Given the description of an element on the screen output the (x, y) to click on. 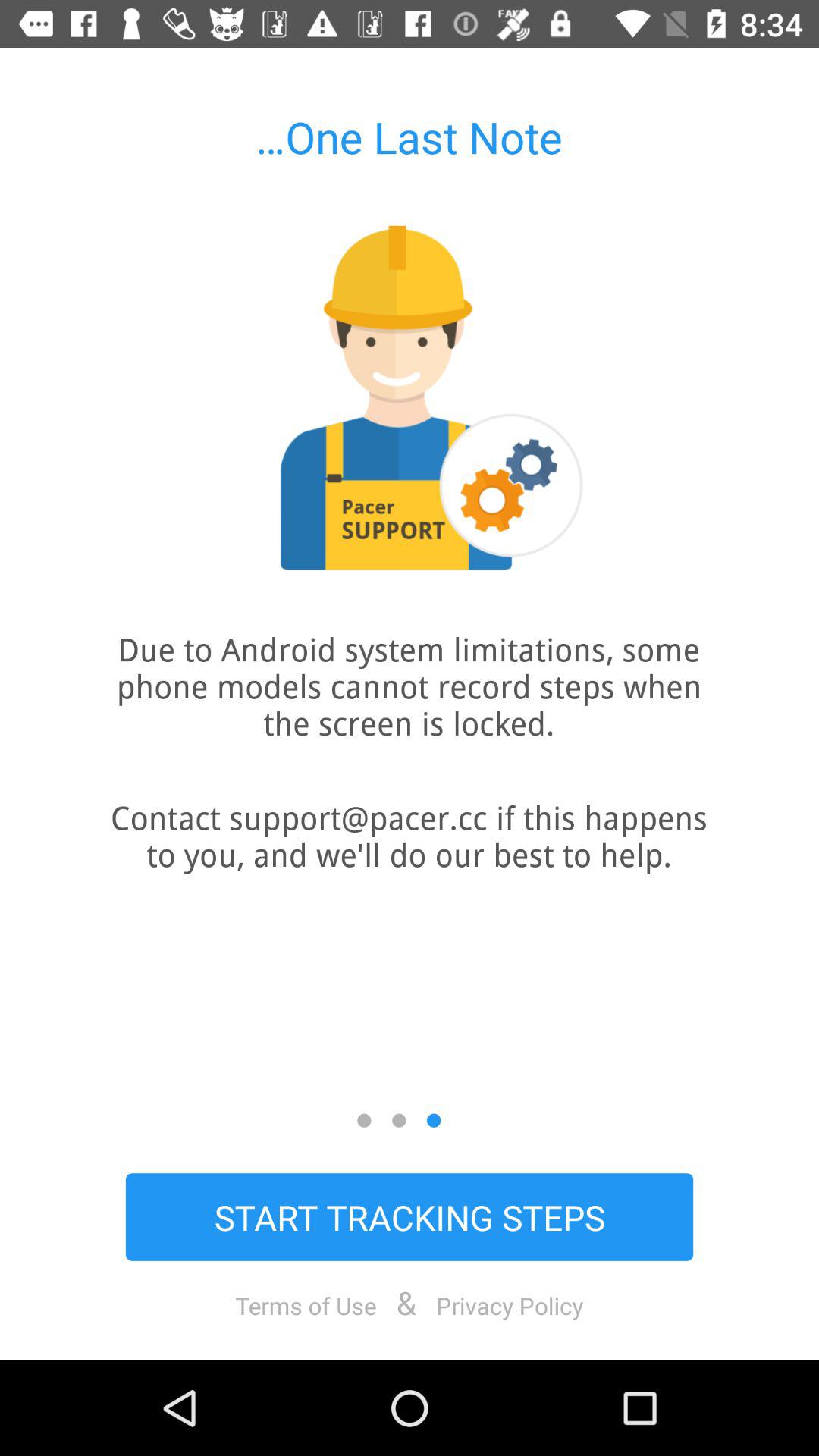
select item next to & (305, 1305)
